Given the description of an element on the screen output the (x, y) to click on. 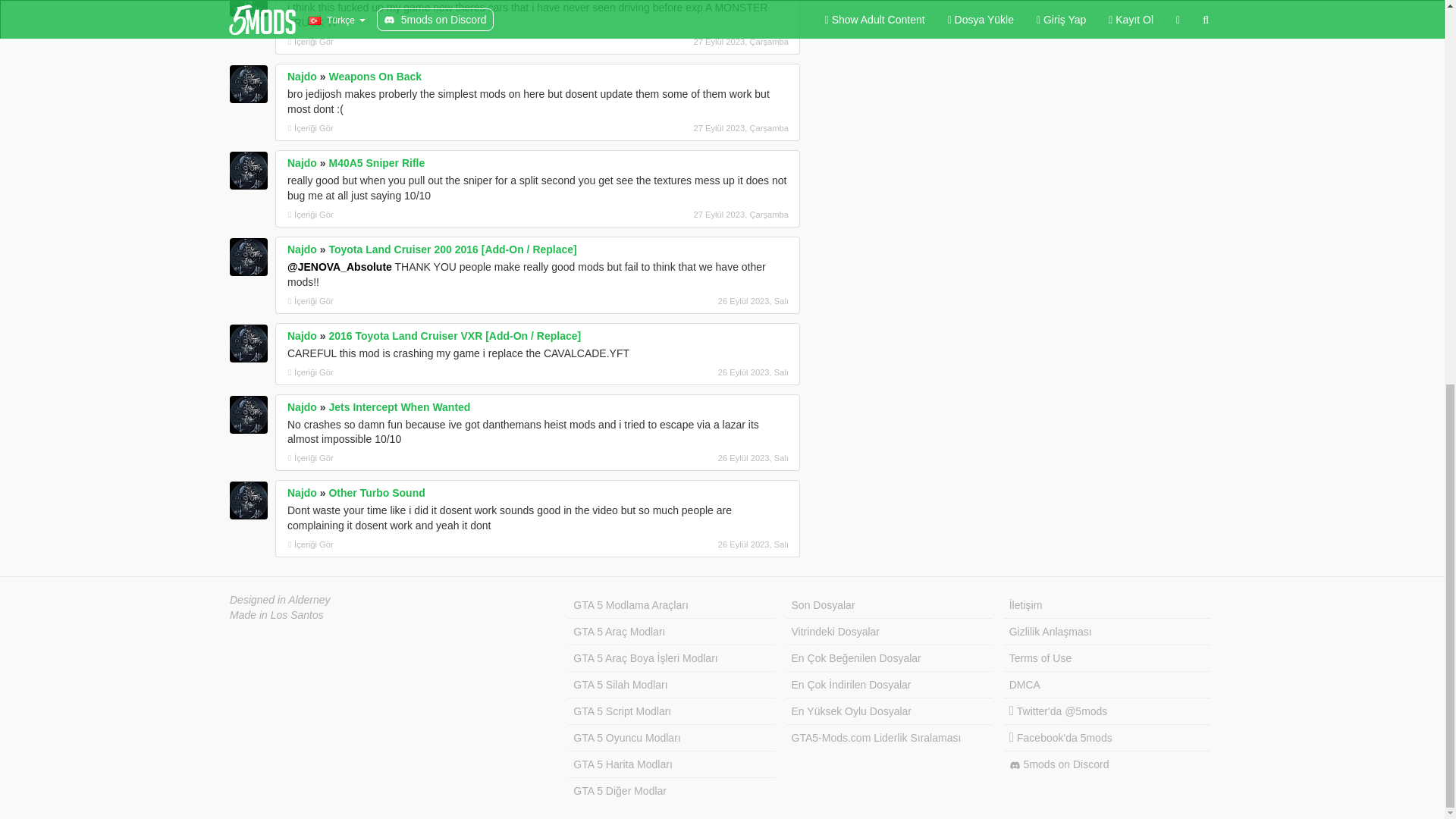
Facebook'da 5mods (1106, 737)
Sal 26.Eyl.23 12:25 (708, 300)
Sal 26.Eyl.23 07:21 (708, 458)
5mods on Discord (1106, 764)
Sal 26.Eyl.23 12:22 (708, 372)
Sal 26.Eyl.23 04:09 (708, 544)
